Given the description of an element on the screen output the (x, y) to click on. 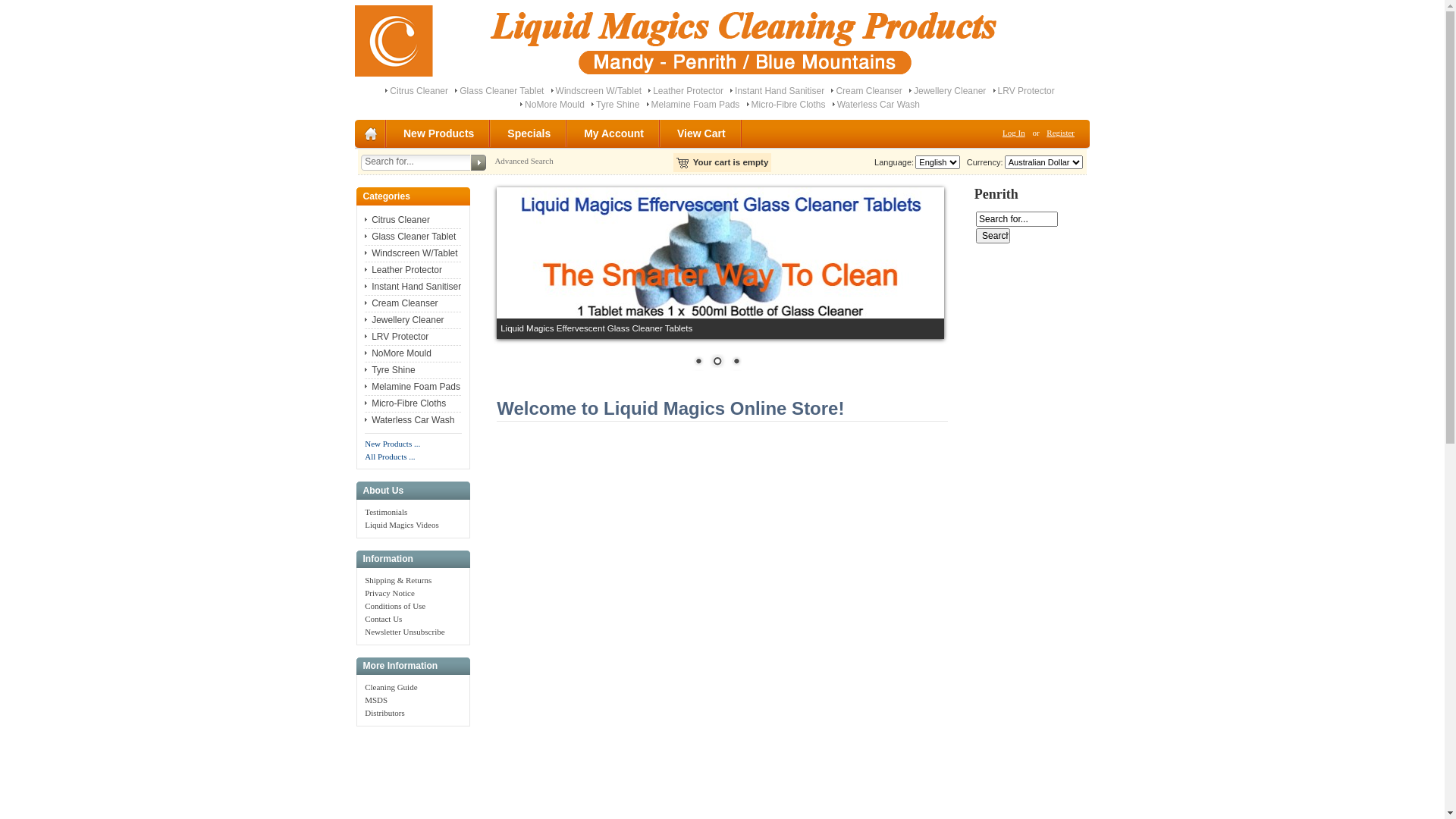
Newsletter Unsubscribe Element type: text (404, 631)
Glass Cleaner Tablet Element type: text (501, 90)
Leather Protector Element type: text (403, 269)
Melamine Foam Pads Element type: text (412, 386)
3 Element type: text (736, 362)
Specials Element type: text (529, 133)
Melamine Foam Pads Element type: text (695, 104)
Distributors Element type: text (384, 712)
All Products ... Element type: text (389, 456)
Citrus Cleaner Element type: text (396, 219)
Glass Cleaner Tablet Element type: text (409, 236)
Leather Protector Element type: text (688, 90)
Waterless Car Wash Element type: text (878, 104)
Register Element type: text (1060, 132)
Contact Us Element type: text (382, 618)
LRV Protector Element type: text (1026, 90)
Instant Hand Sanitiser Element type: text (779, 90)
Conditions of Use Element type: text (394, 605)
Jewellery Cleaner Element type: text (403, 319)
MSDS Element type: text (375, 699)
New Products ... Element type: text (392, 443)
My Account Element type: text (614, 133)
Tyre Shine Element type: text (617, 104)
Search Element type: text (992, 235)
View Cart Element type: text (701, 133)
Cleaning Guide Element type: text (390, 686)
Waterless Car Wash Element type: text (409, 419)
Liquid Magics Videos Element type: text (401, 524)
Citrus Cleaner Element type: text (418, 90)
NoMore Mould Element type: text (554, 104)
Jewellery Cleaner Element type: text (949, 90)
Micro-Fibre Cloths Element type: text (788, 104)
Instant Hand Sanitiser Element type: text (412, 286)
1 Element type: text (698, 362)
Testimonials Element type: text (385, 511)
New Products Element type: text (439, 133)
Cream Cleanser Element type: text (400, 303)
Log In Element type: text (1013, 132)
Tyre Shine Element type: text (389, 369)
Micro-Fibre Cloths Element type: text (404, 403)
Windscreen W/Tablet Element type: text (598, 90)
LRV Protector Element type: text (396, 336)
Windscreen W/Tablet Element type: text (410, 252)
Privacy Notice Element type: text (389, 592)
Cream Cleanser Element type: text (868, 90)
2 Element type: text (717, 362)
Advanced Search Element type: text (523, 160)
Shipping & Returns Element type: text (397, 579)
NoMore Mould Element type: text (397, 353)
